Given the description of an element on the screen output the (x, y) to click on. 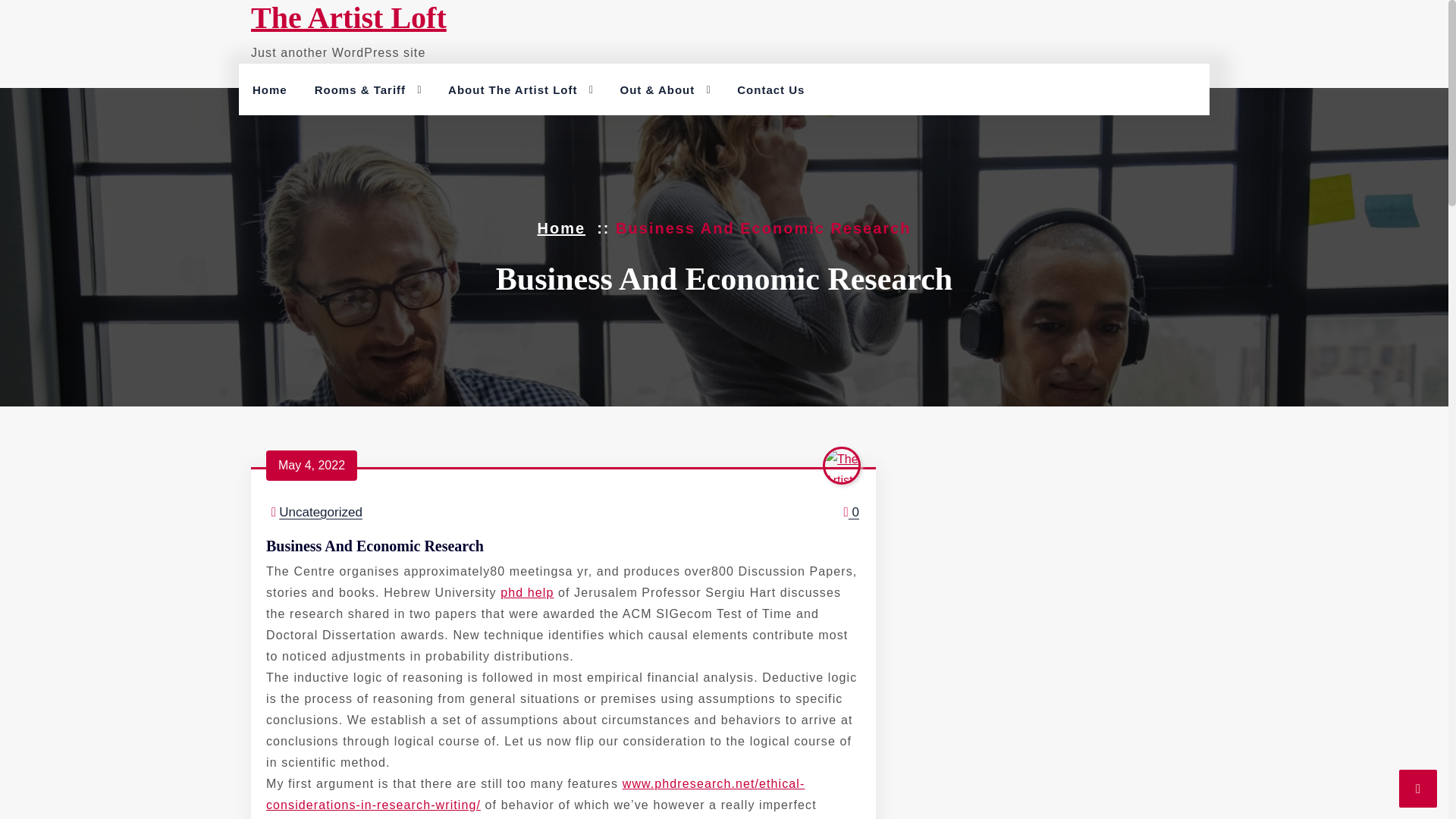
Contact Us (770, 90)
Uncategorized (320, 512)
About The Artist Loft (512, 90)
phd help (526, 592)
Home (561, 228)
Contact Us (770, 90)
Home (270, 90)
About The Artist Loft (512, 90)
Home (270, 90)
Saltcellar Room (392, 126)
 0 (849, 512)
Testimonials (524, 126)
Saltcellar Room (392, 126)
The Artist Loft (348, 17)
Testimonials (524, 126)
